Given the description of an element on the screen output the (x, y) to click on. 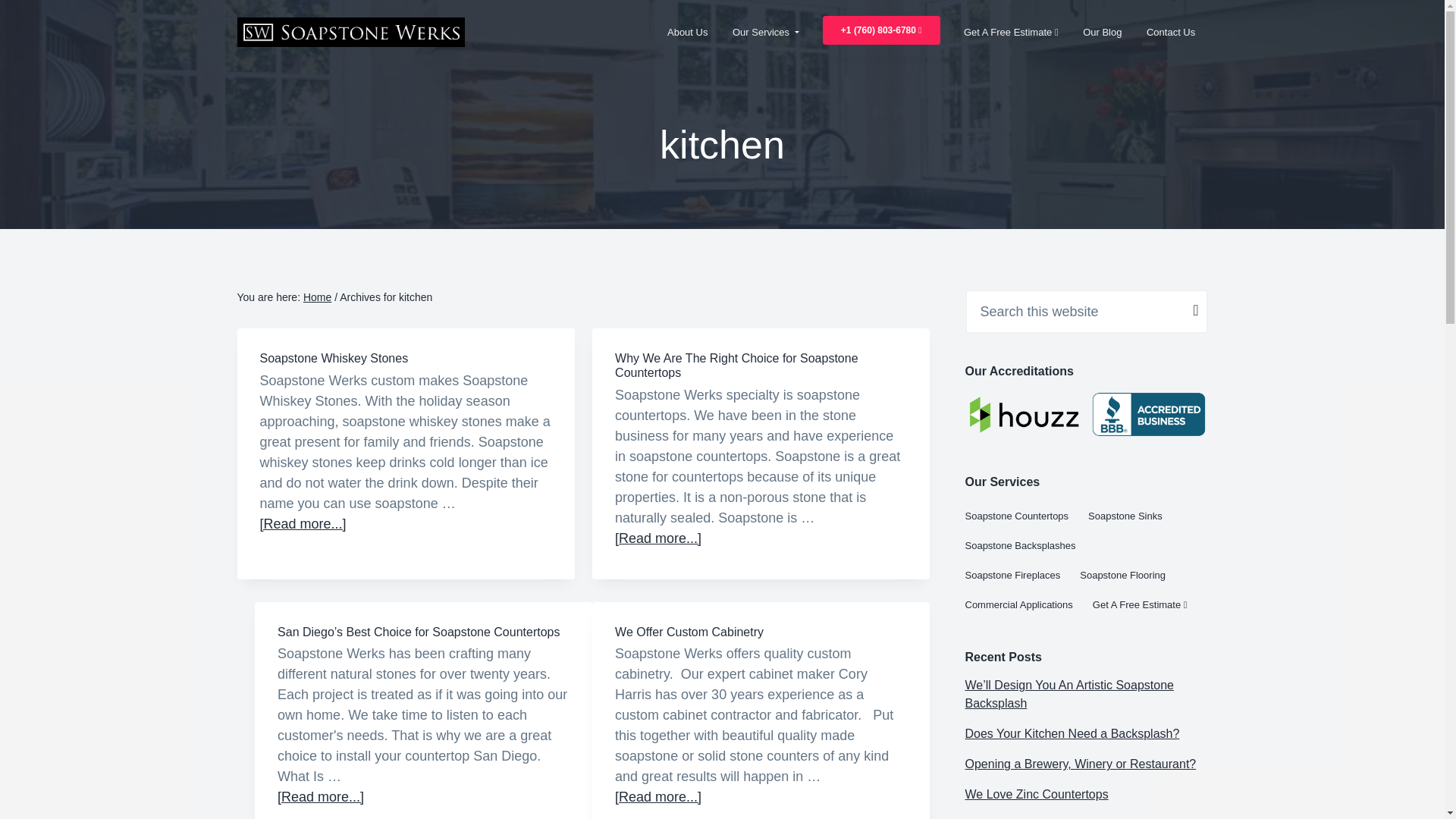
Home (316, 297)
Contact Us (1171, 31)
About Us (687, 31)
Soapstone Backsplashes (1028, 545)
We Offer Custom Cabinetry (688, 631)
Our Blog (1102, 31)
Our Services (765, 31)
Soapstone Sinks (1134, 515)
Get A Free Estimate (1011, 31)
Commercial Applications (1027, 604)
Soapstone Countertops (1025, 515)
Soapstone Fireplaces (1021, 574)
Why We Are The Right Choice for Soapstone Countertops (735, 365)
Soapstone Flooring (1132, 574)
